Given the description of an element on the screen output the (x, y) to click on. 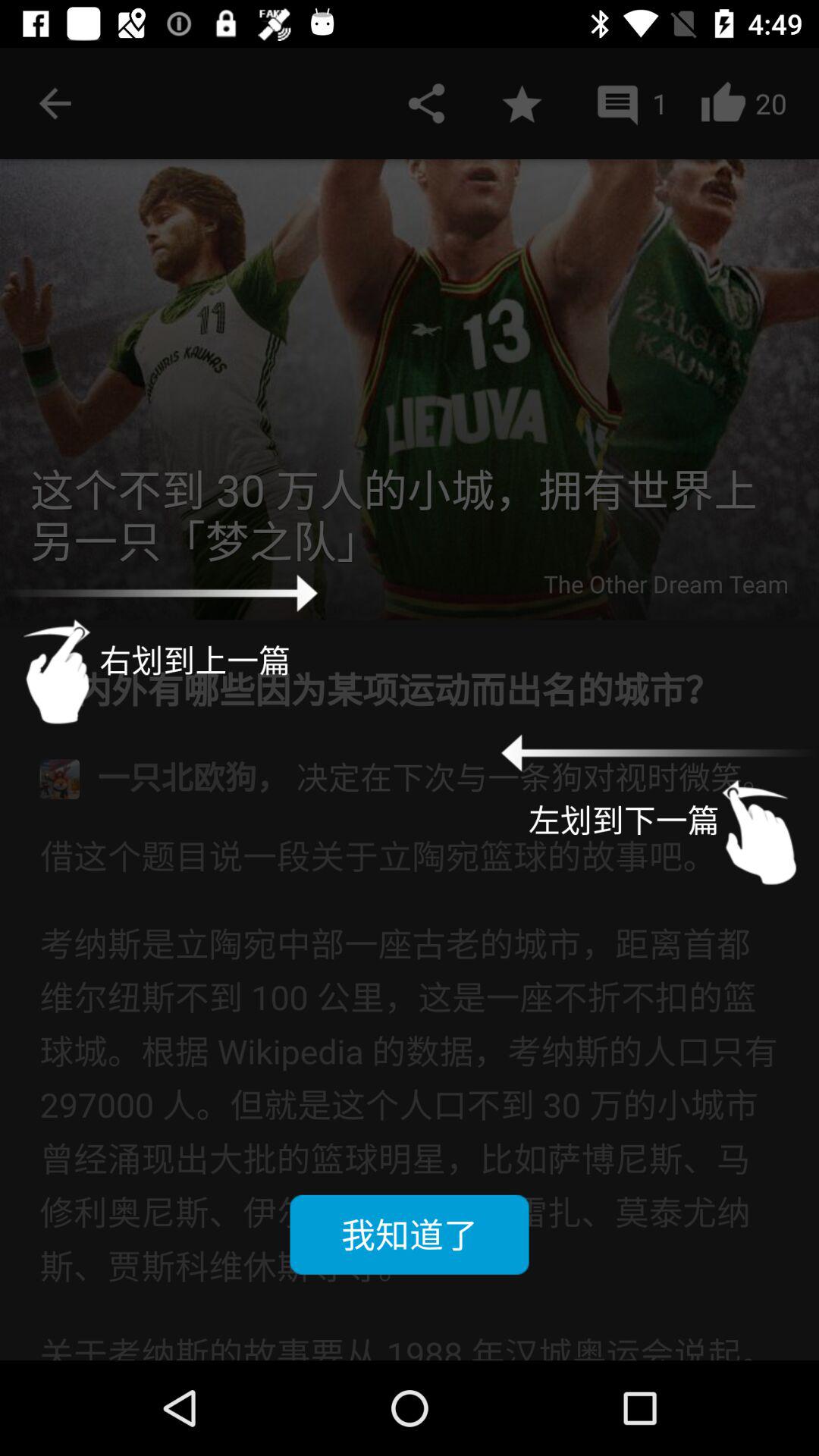
favorite (521, 103)
